Given the description of an element on the screen output the (x, y) to click on. 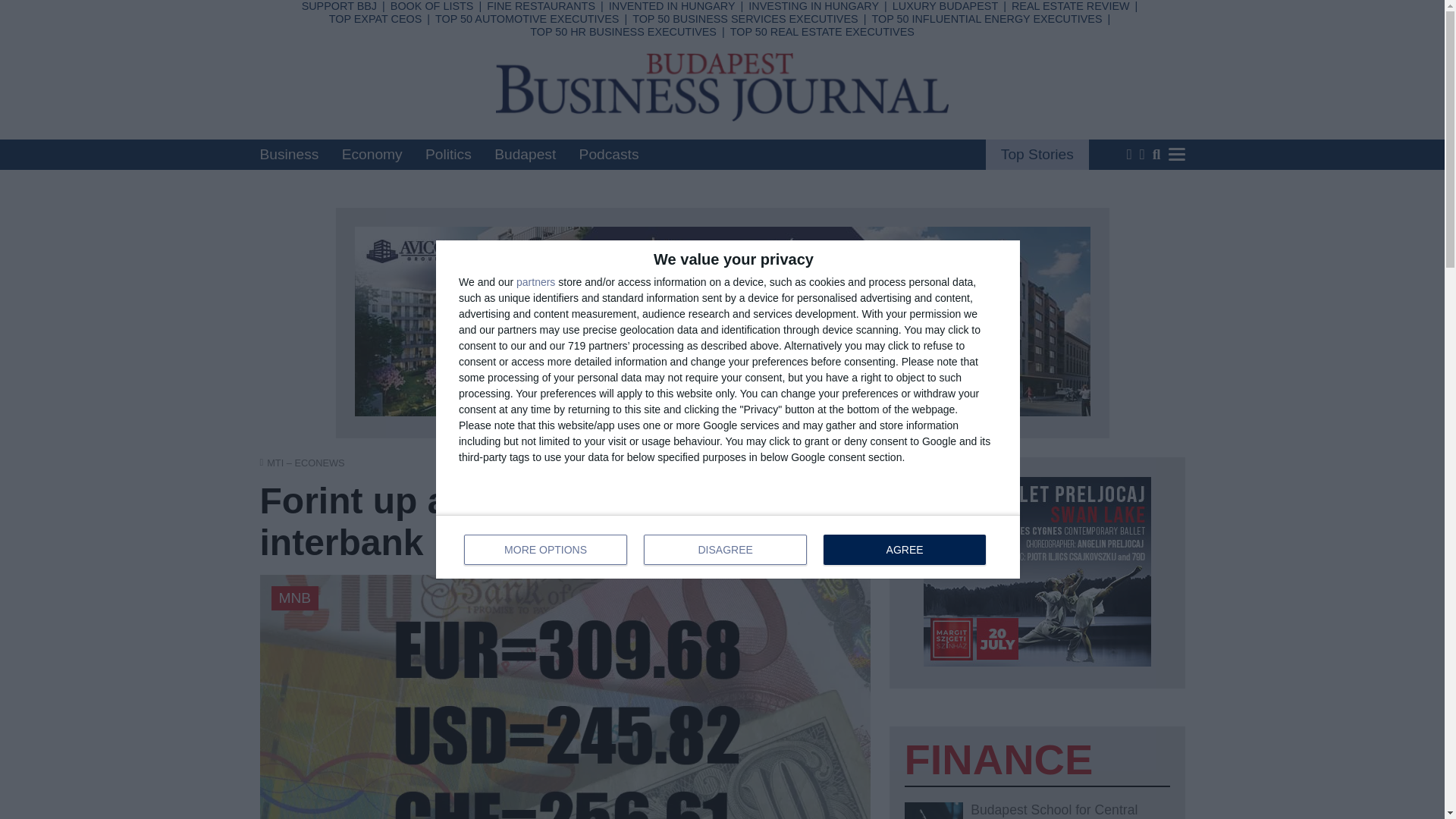
Statistics (651, 33)
BOOK OF LISTS (432, 6)
Environment (665, 92)
Business (288, 154)
LUXURY BUDAPEST (944, 6)
SUPPORT BBJ (339, 6)
Podcasts (609, 154)
TOP 50 BUSINESS SERVICES EXECUTIVES (745, 19)
Politics (448, 154)
MORE OPTIONS (545, 549)
AGREE (904, 549)
partners (535, 281)
Budapest (525, 154)
Startups (530, 112)
